Given the description of an element on the screen output the (x, y) to click on. 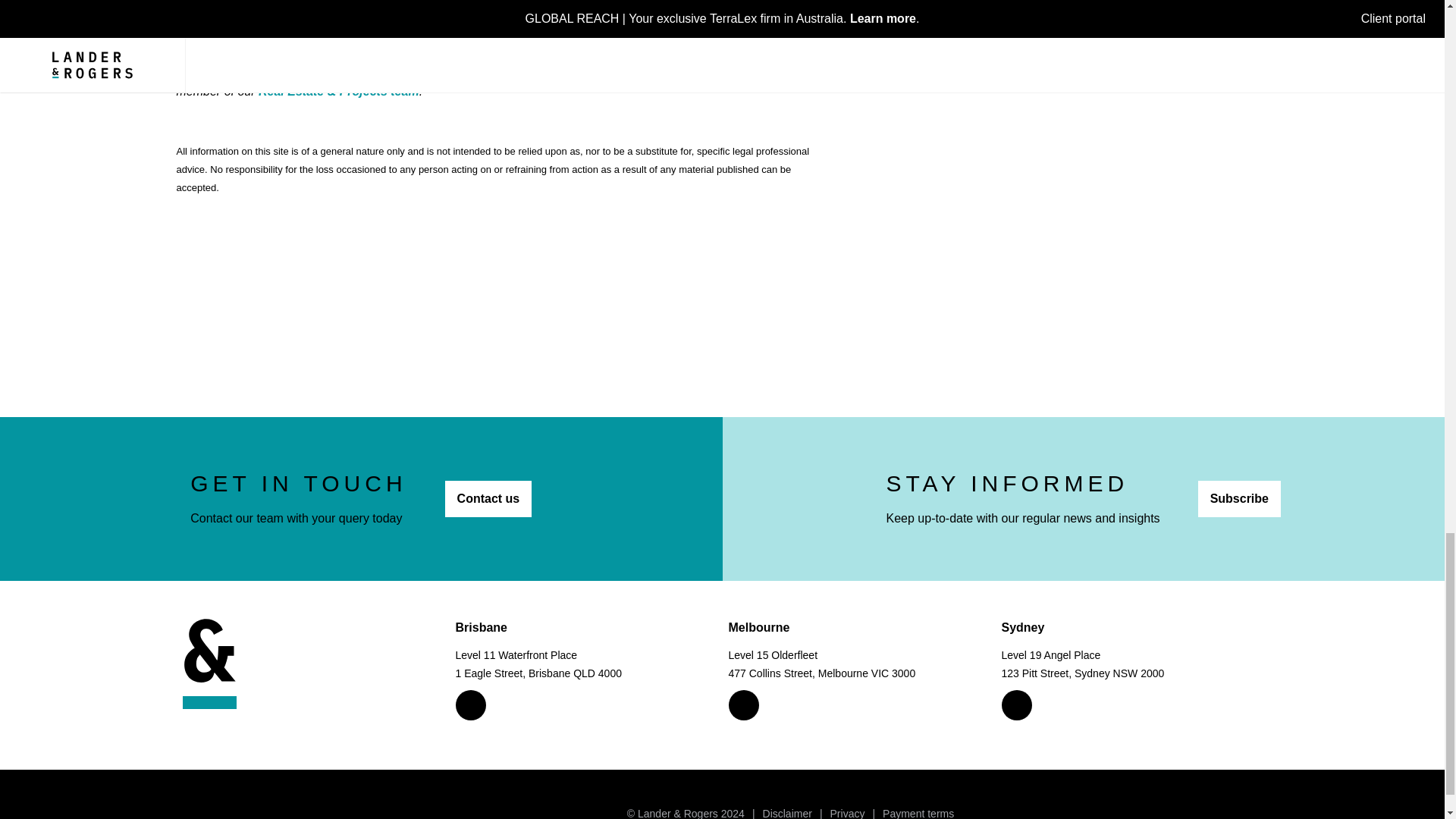
Subscribe (1239, 498)
Contact us (488, 498)
